Given the description of an element on the screen output the (x, y) to click on. 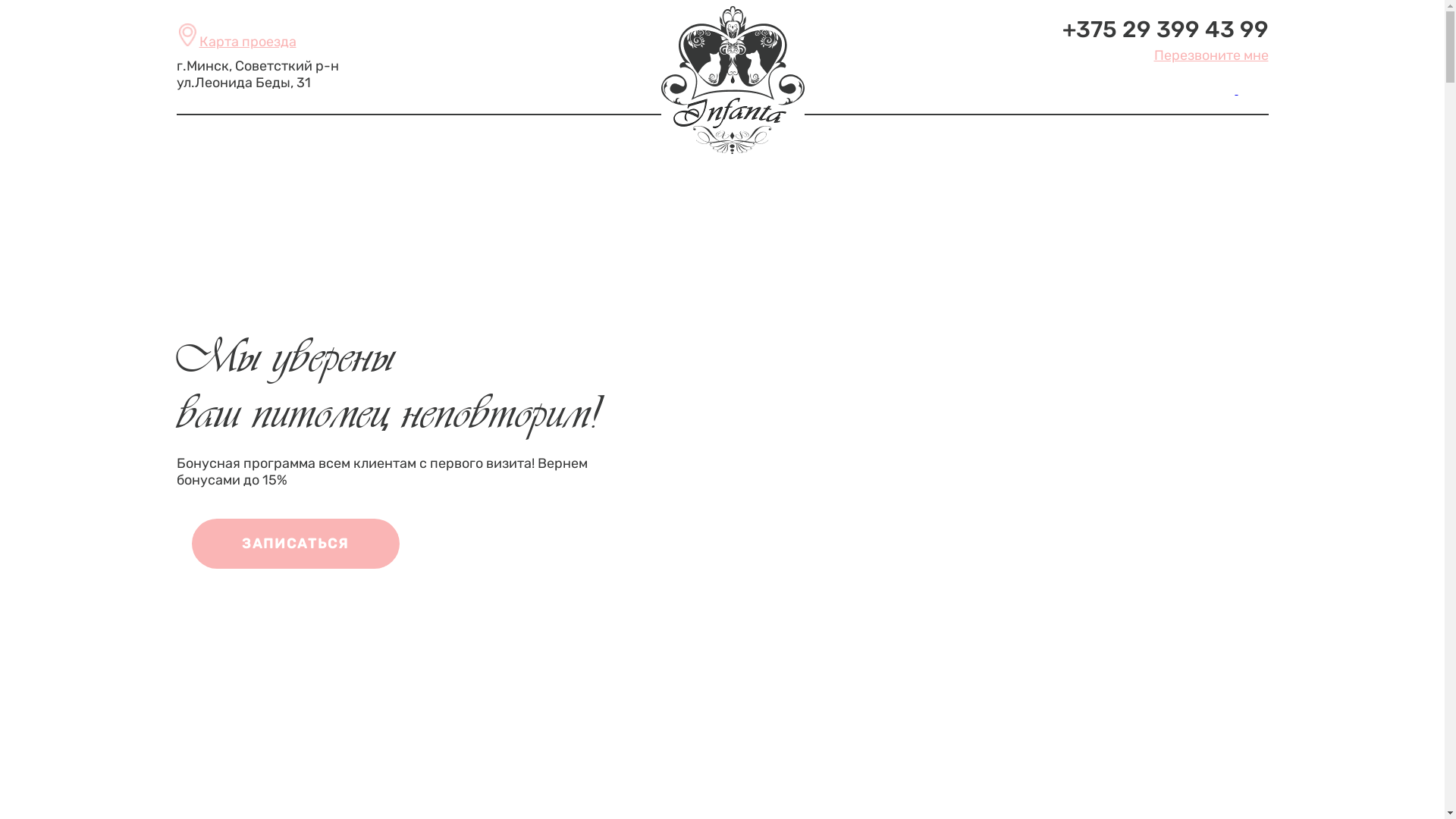
+375 29 399 43 99 Element type: text (1164, 29)
